Given the description of an element on the screen output the (x, y) to click on. 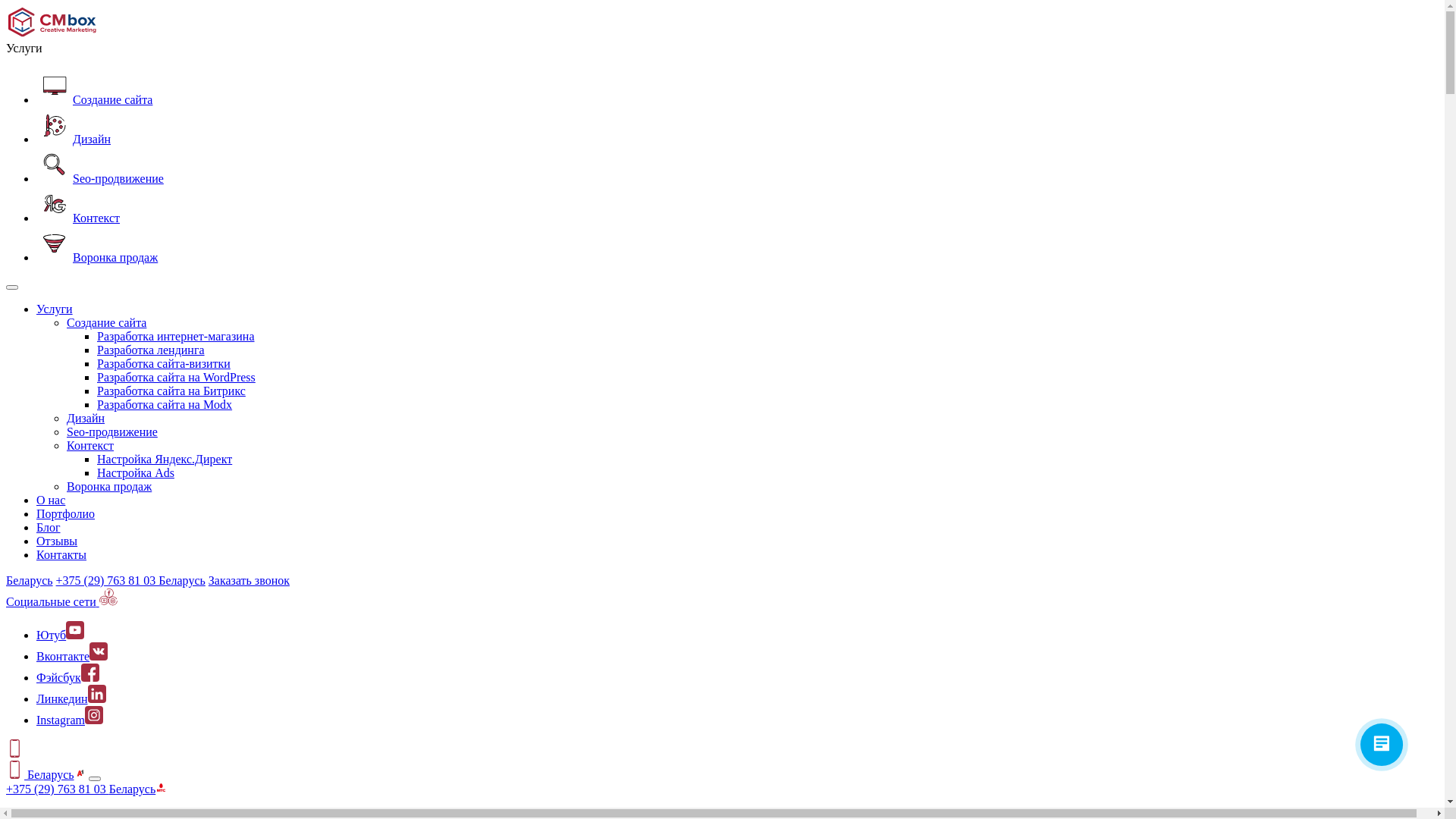
Instagram Element type: text (69, 719)
